Given the description of an element on the screen output the (x, y) to click on. 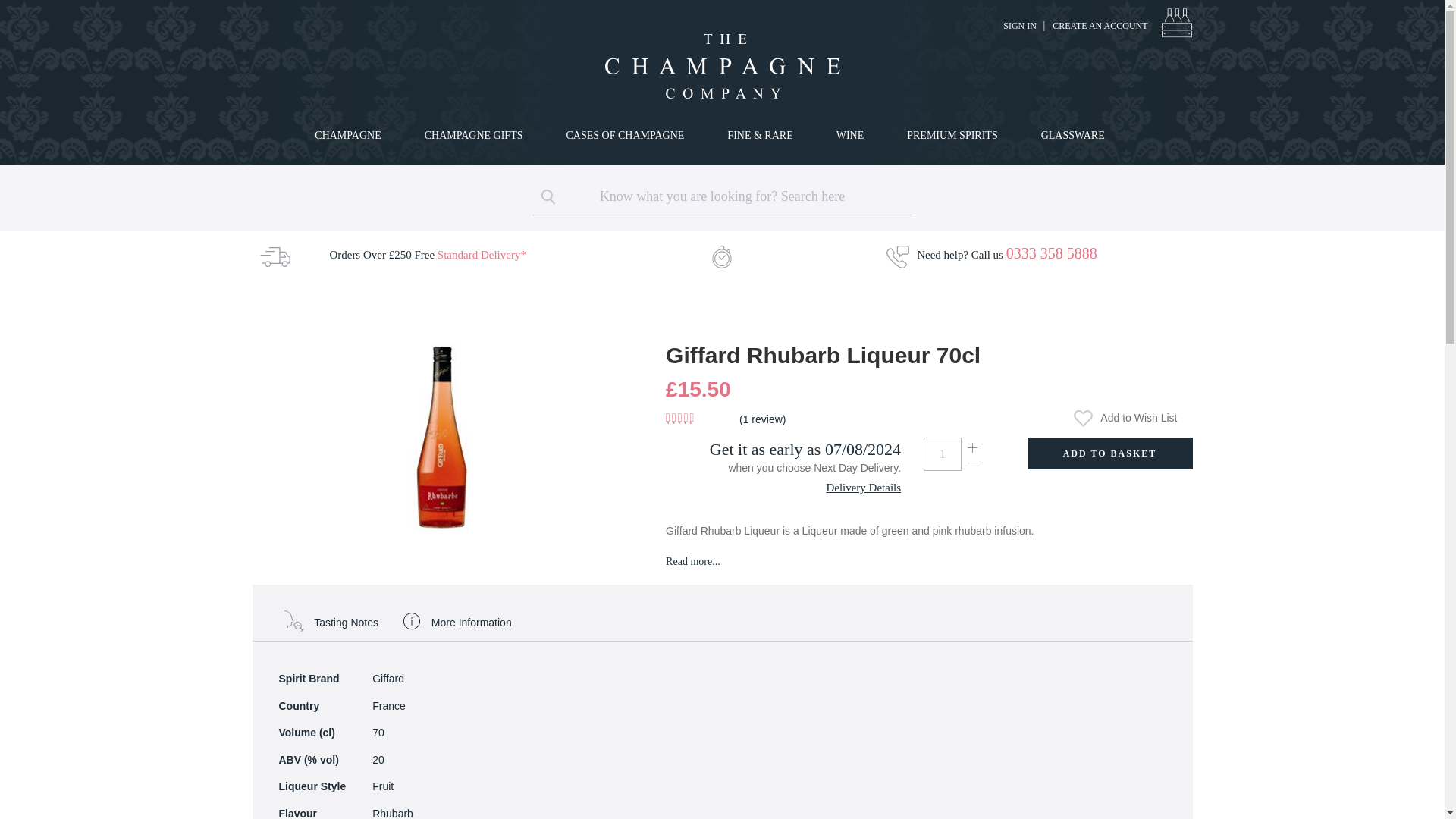
Add to Basket (1109, 453)
Qty (941, 453)
The Champagne Company (722, 66)
The Champagne Company (721, 66)
1 (941, 453)
CREATE AN ACCOUNT (1099, 25)
CHAMPAGNE (350, 135)
My Basket (1176, 22)
SIGN IN (1019, 25)
